Given the description of an element on the screen output the (x, y) to click on. 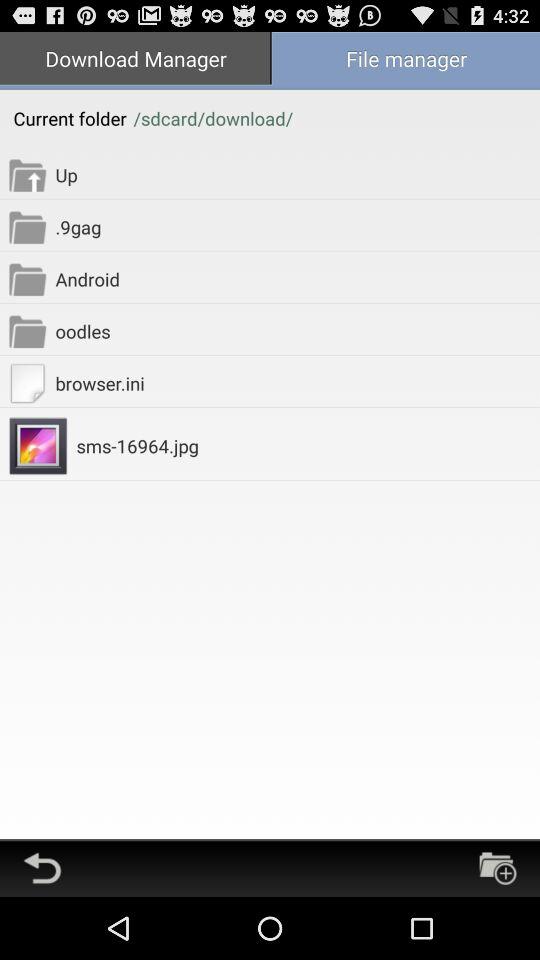
flip until the sms-16964.jpg item (308, 445)
